Given the description of an element on the screen output the (x, y) to click on. 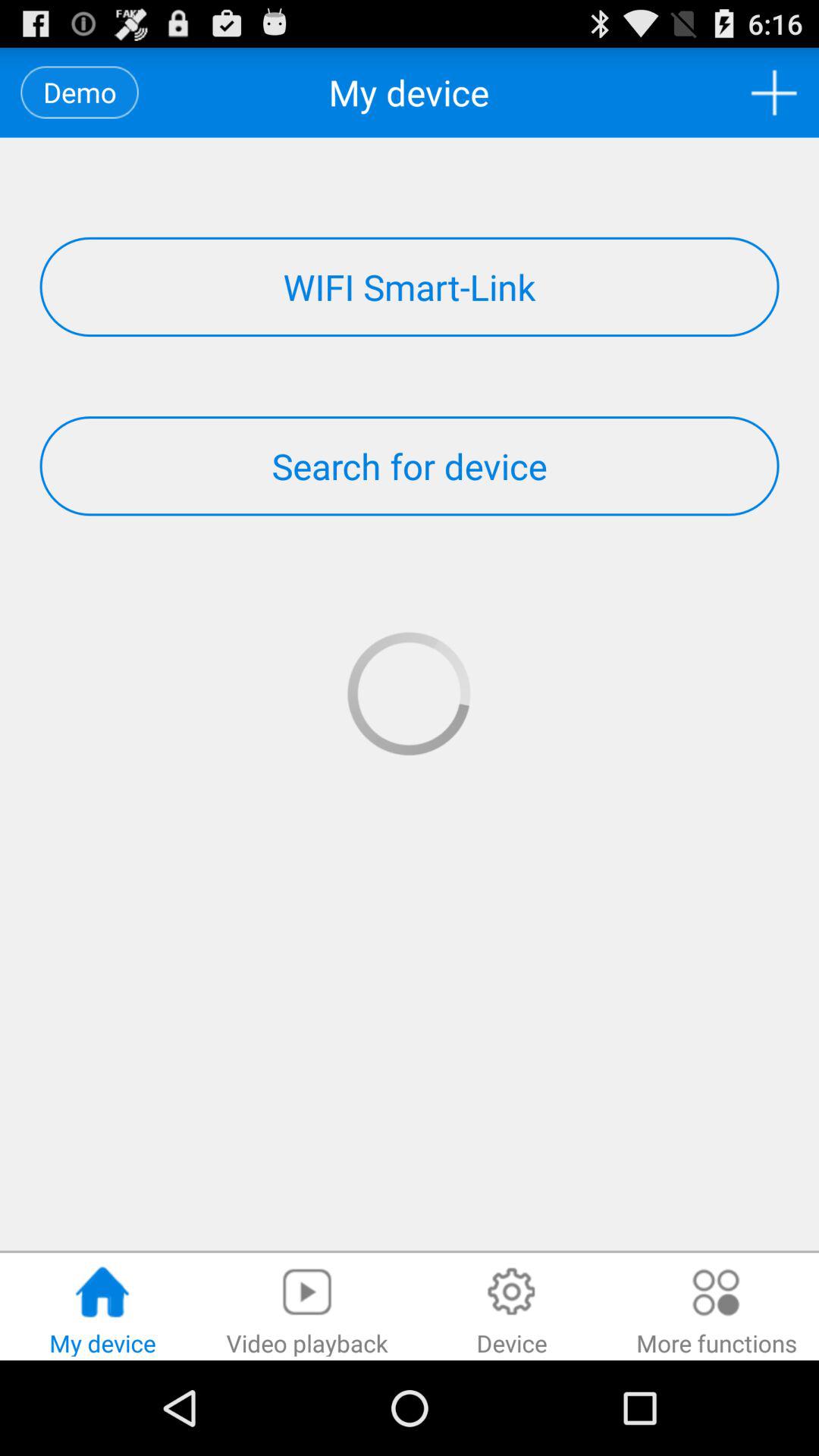
click +button (774, 92)
